Given the description of an element on the screen output the (x, y) to click on. 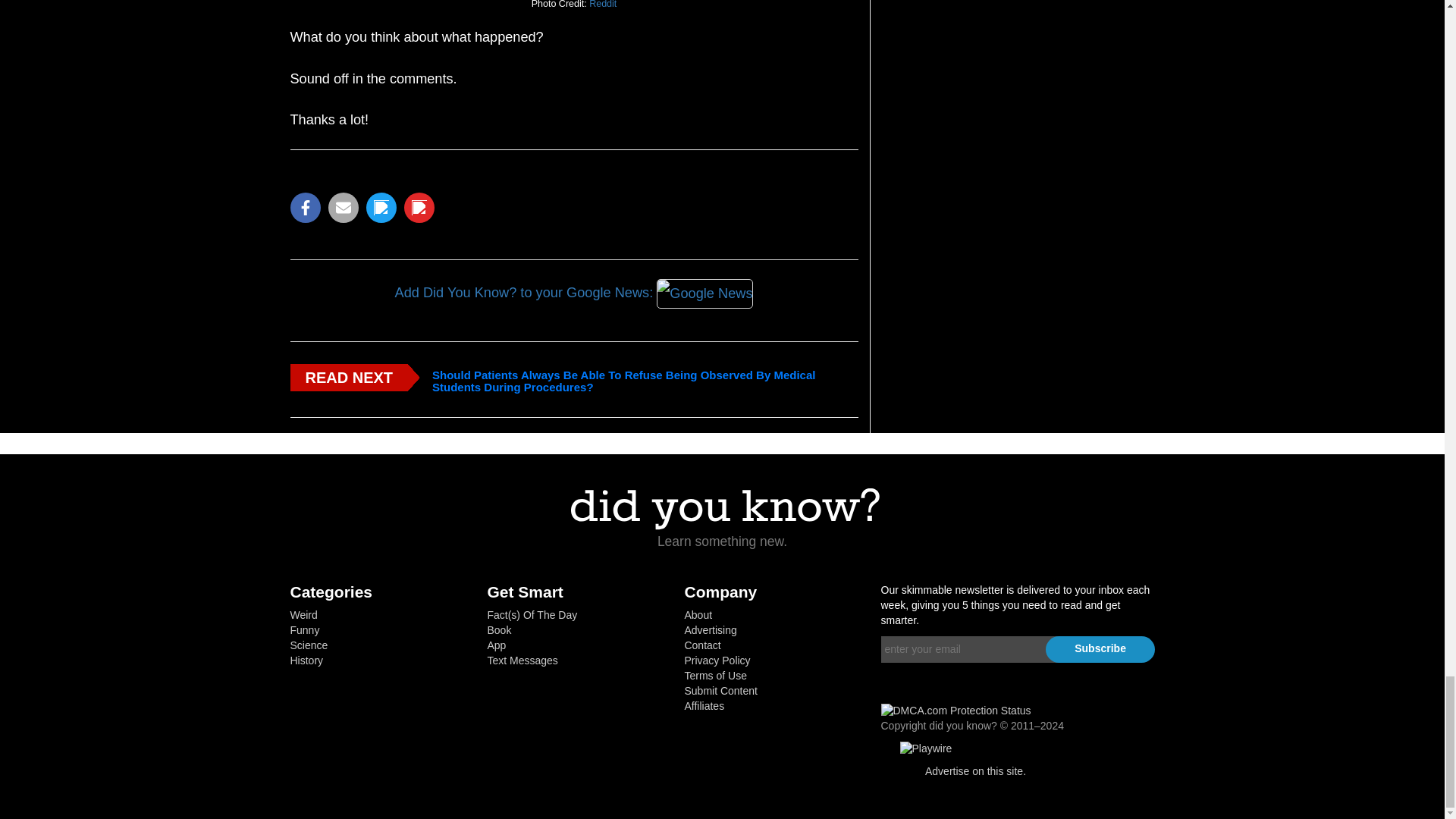
Add Did You Know? to your Google News: (573, 295)
READ NEXT (348, 378)
Subscribe (1100, 649)
Google News (705, 294)
Reddit (602, 6)
